Given the description of an element on the screen output the (x, y) to click on. 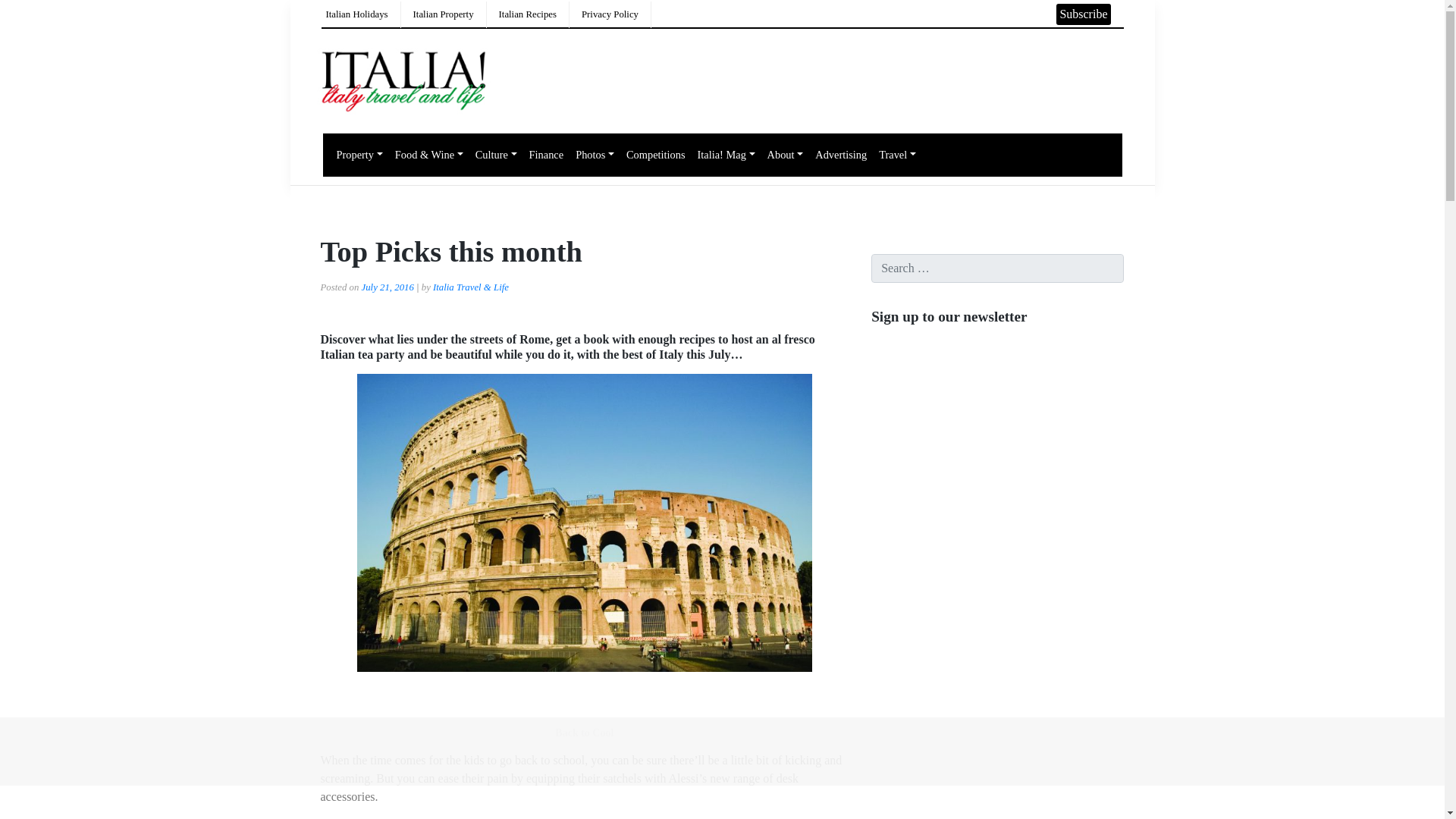
Property (359, 154)
Culture (495, 154)
Privacy Policy (609, 14)
Finance (546, 154)
Subscribe (1083, 14)
Italian Property (443, 14)
Competitions (655, 154)
Italian Recipes (527, 14)
Italia! Mag (726, 154)
Privacy Policy (609, 14)
Italian Holidays (357, 14)
Italian Property (443, 14)
Advertising (840, 154)
Italian Recipes (527, 14)
Property (359, 154)
